Given the description of an element on the screen output the (x, y) to click on. 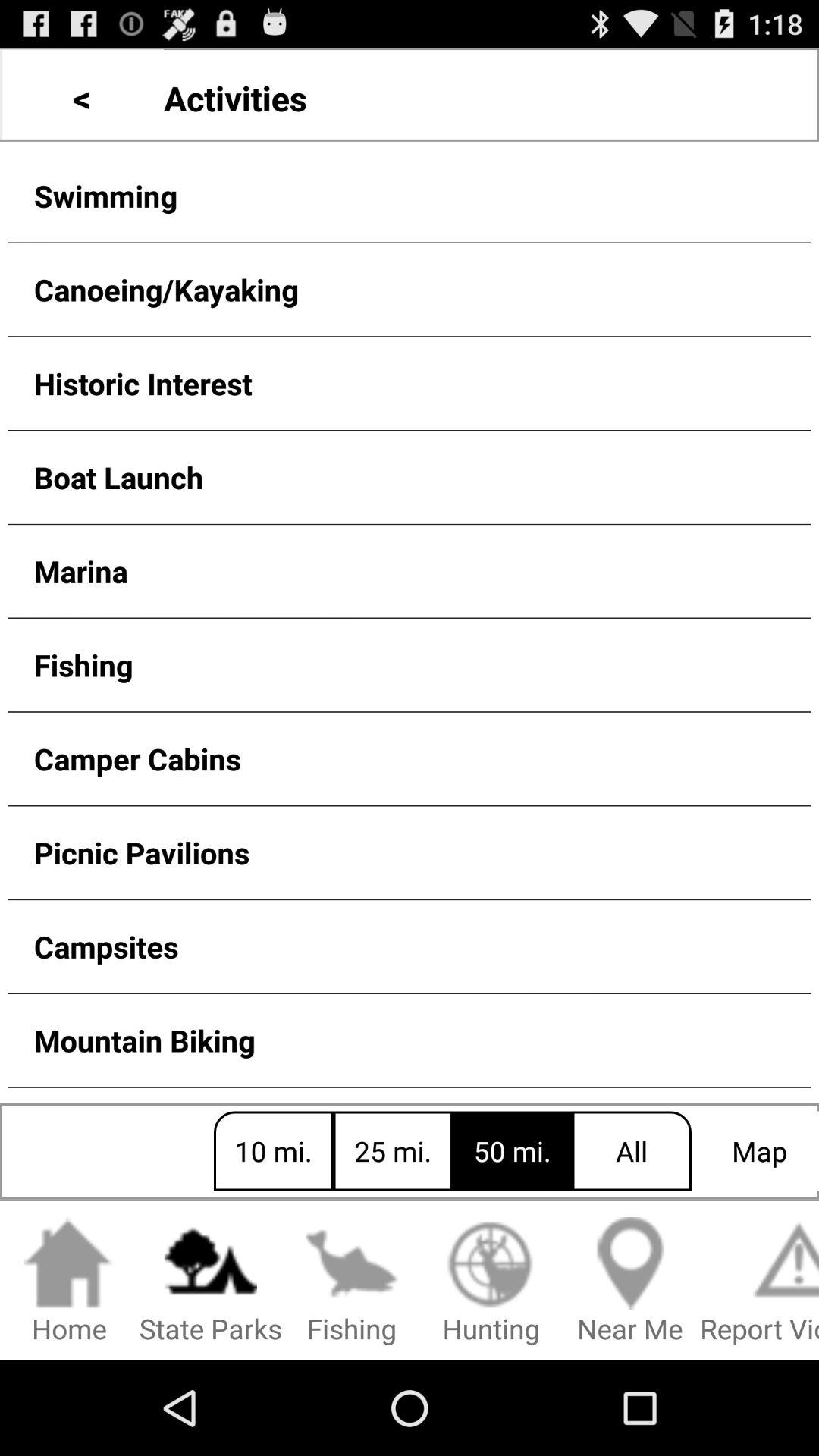
flip to the home (69, 1282)
